Given the description of an element on the screen output the (x, y) to click on. 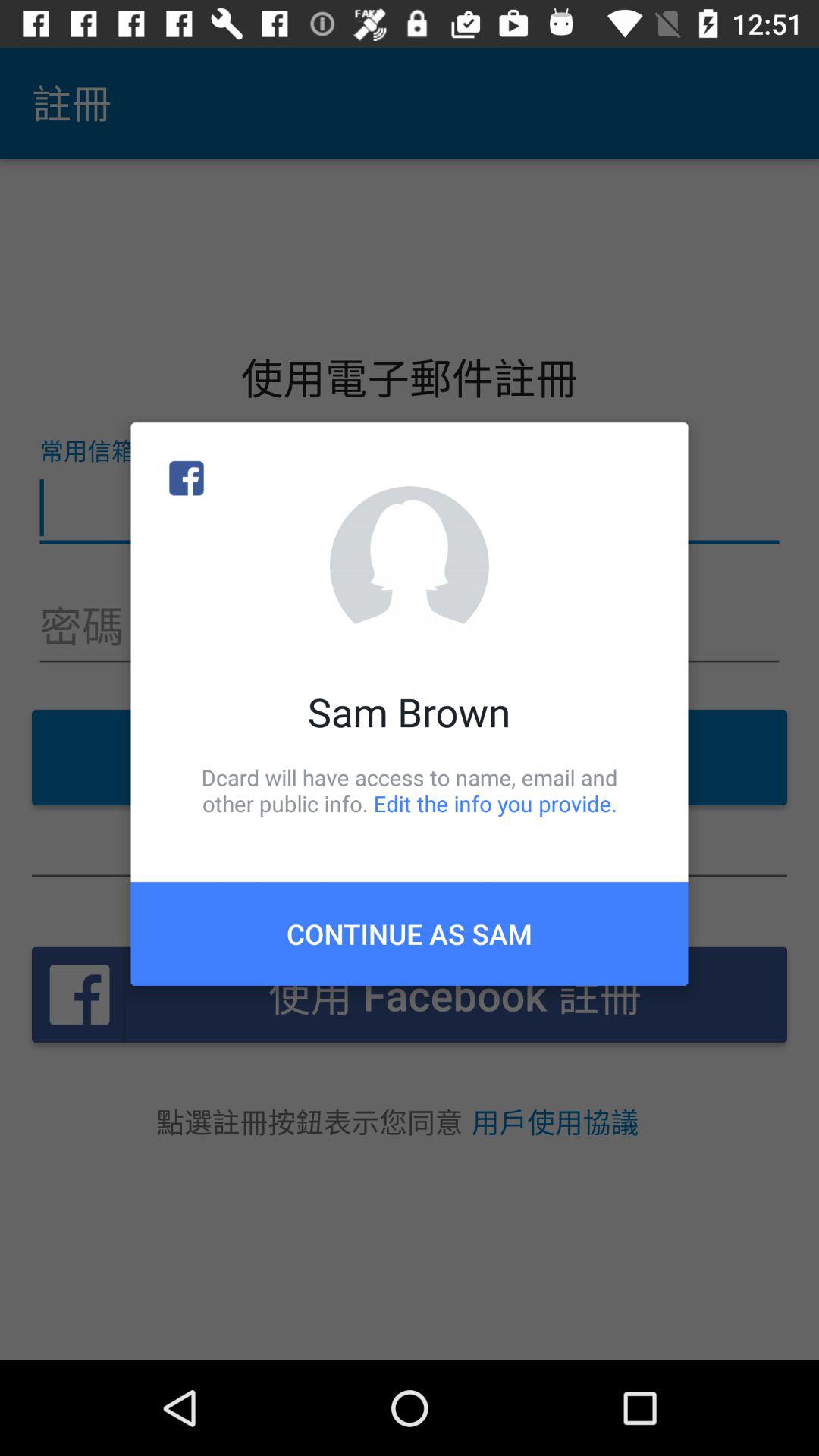
tap icon above the continue as sam item (409, 790)
